Given the description of an element on the screen output the (x, y) to click on. 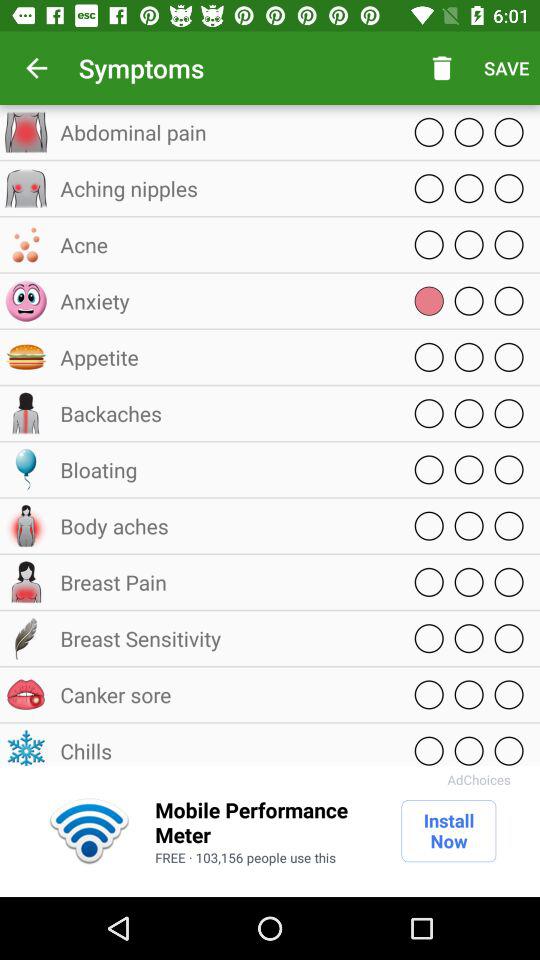
turn off the item to the left of install now item (268, 821)
